Given the description of an element on the screen output the (x, y) to click on. 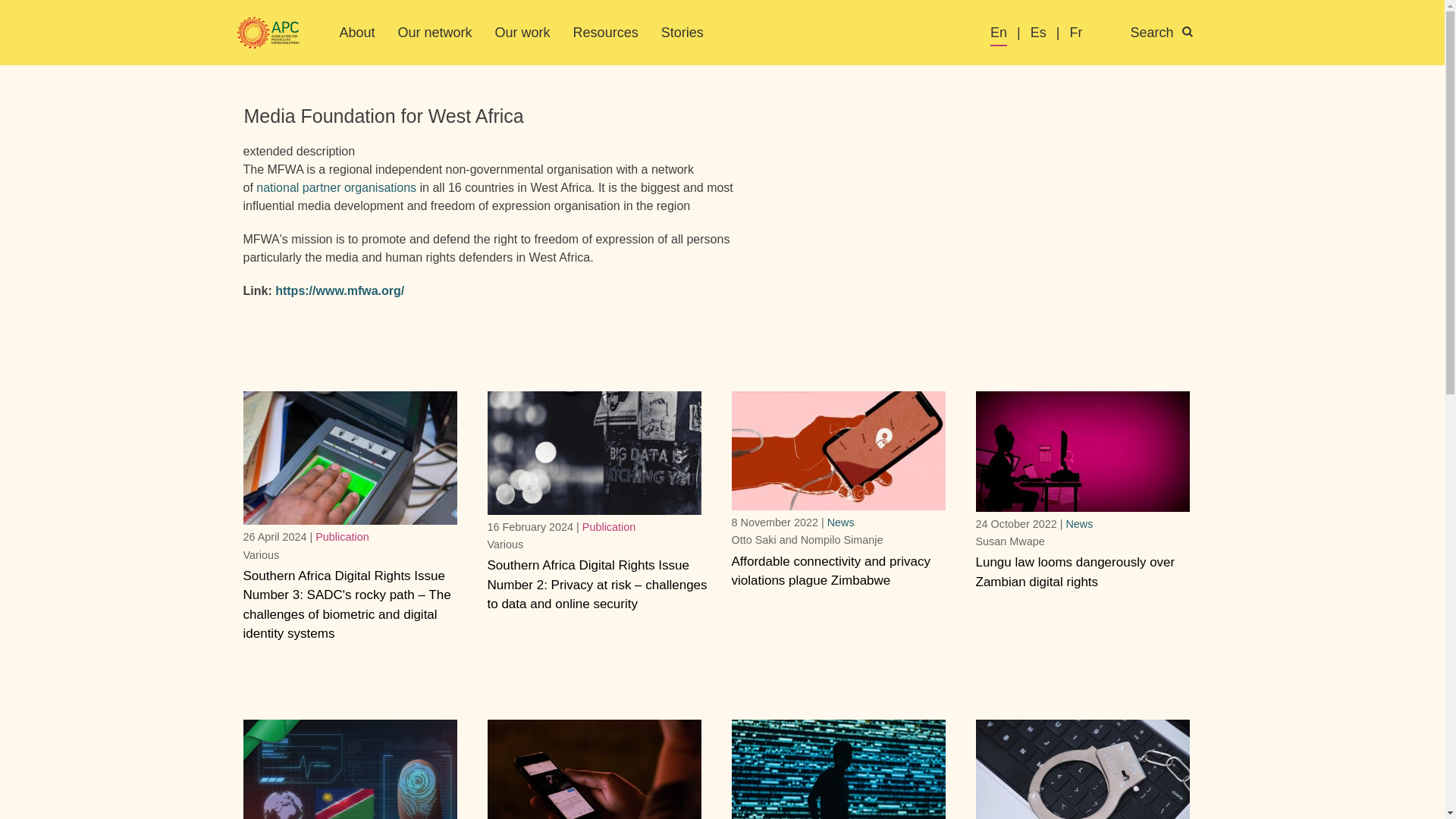
national partner organisations (336, 187)
Home (267, 32)
Publication (341, 536)
About (357, 32)
language switcher content (1101, 32)
News (840, 522)
Stories (682, 32)
Our work (522, 32)
Resources (606, 32)
Search (1170, 32)
Association for Progressive Communications (267, 32)
Publication (608, 526)
Our network (434, 32)
